Given the description of an element on the screen output the (x, y) to click on. 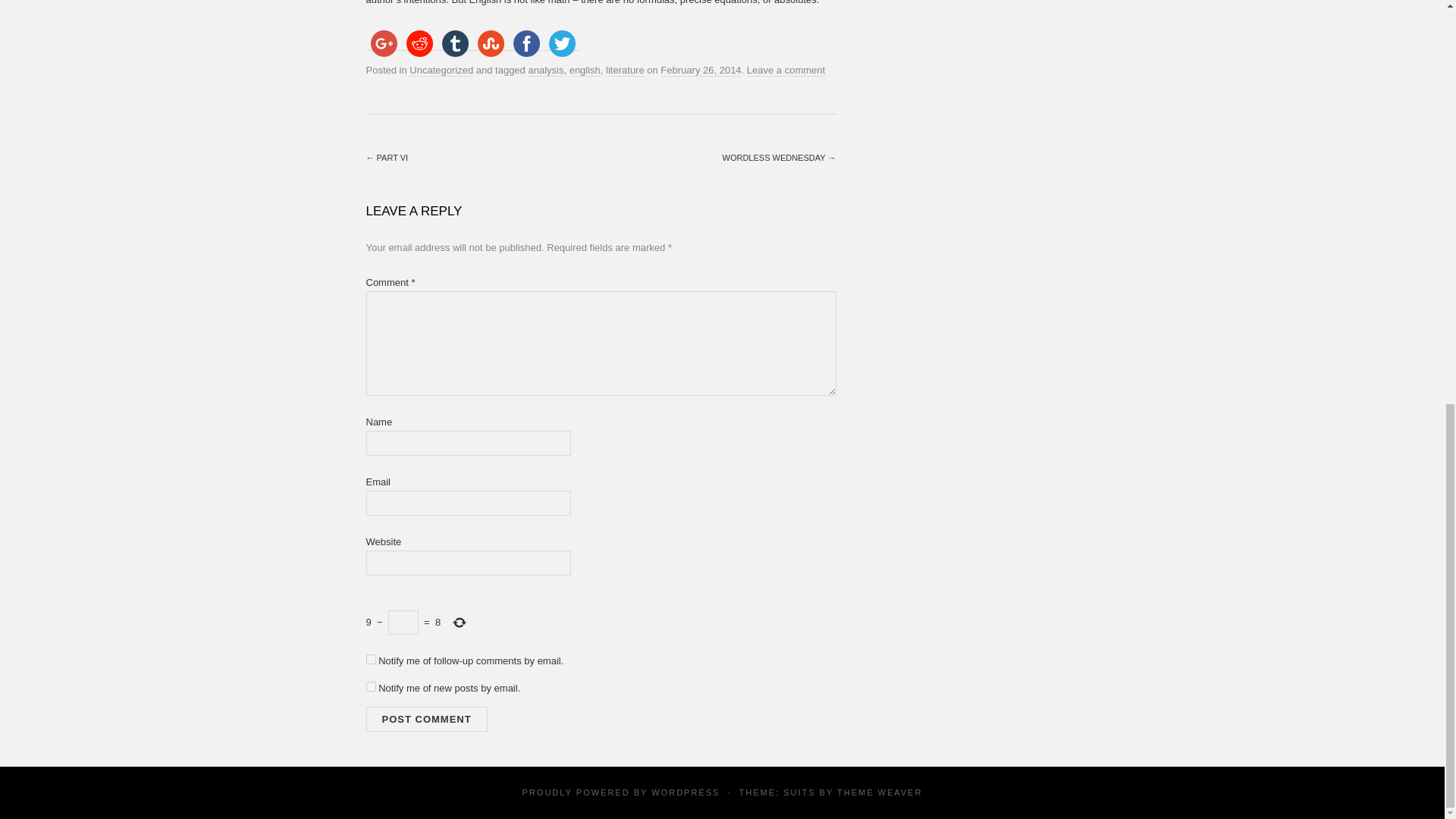
subscribe (370, 686)
literature (625, 70)
analysis (545, 70)
Leave a comment (785, 70)
stumbleupon (490, 43)
Uncategorized (441, 70)
February 26, 2014 (701, 70)
google (383, 43)
THEME WEAVER (879, 791)
english (584, 70)
facebook (525, 43)
twitter (561, 43)
Post Comment (425, 718)
Post Comment (425, 718)
tumblr (453, 43)
